Given the description of an element on the screen output the (x, y) to click on. 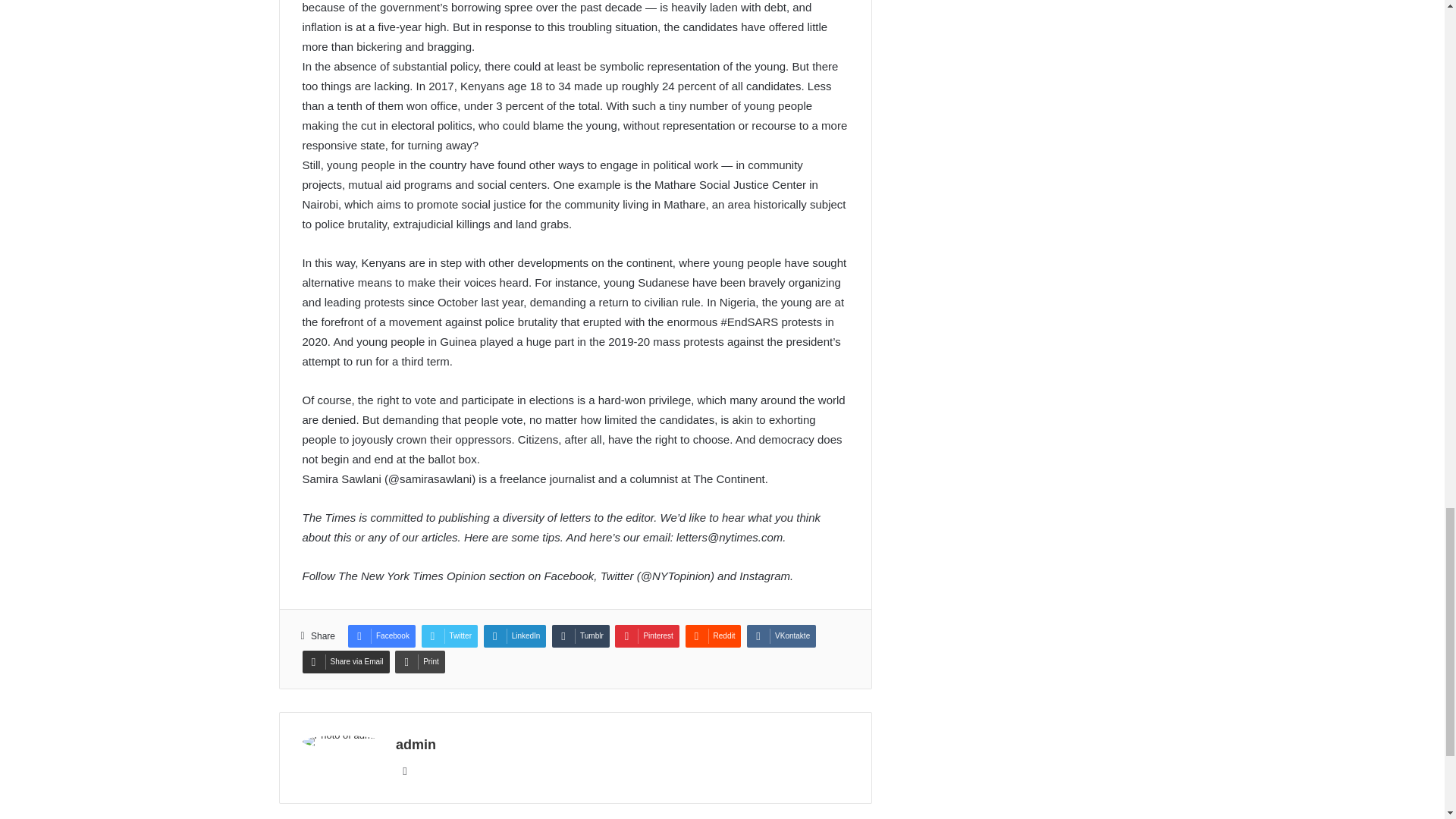
Facebook (380, 635)
Twitter (449, 635)
